Given the description of an element on the screen output the (x, y) to click on. 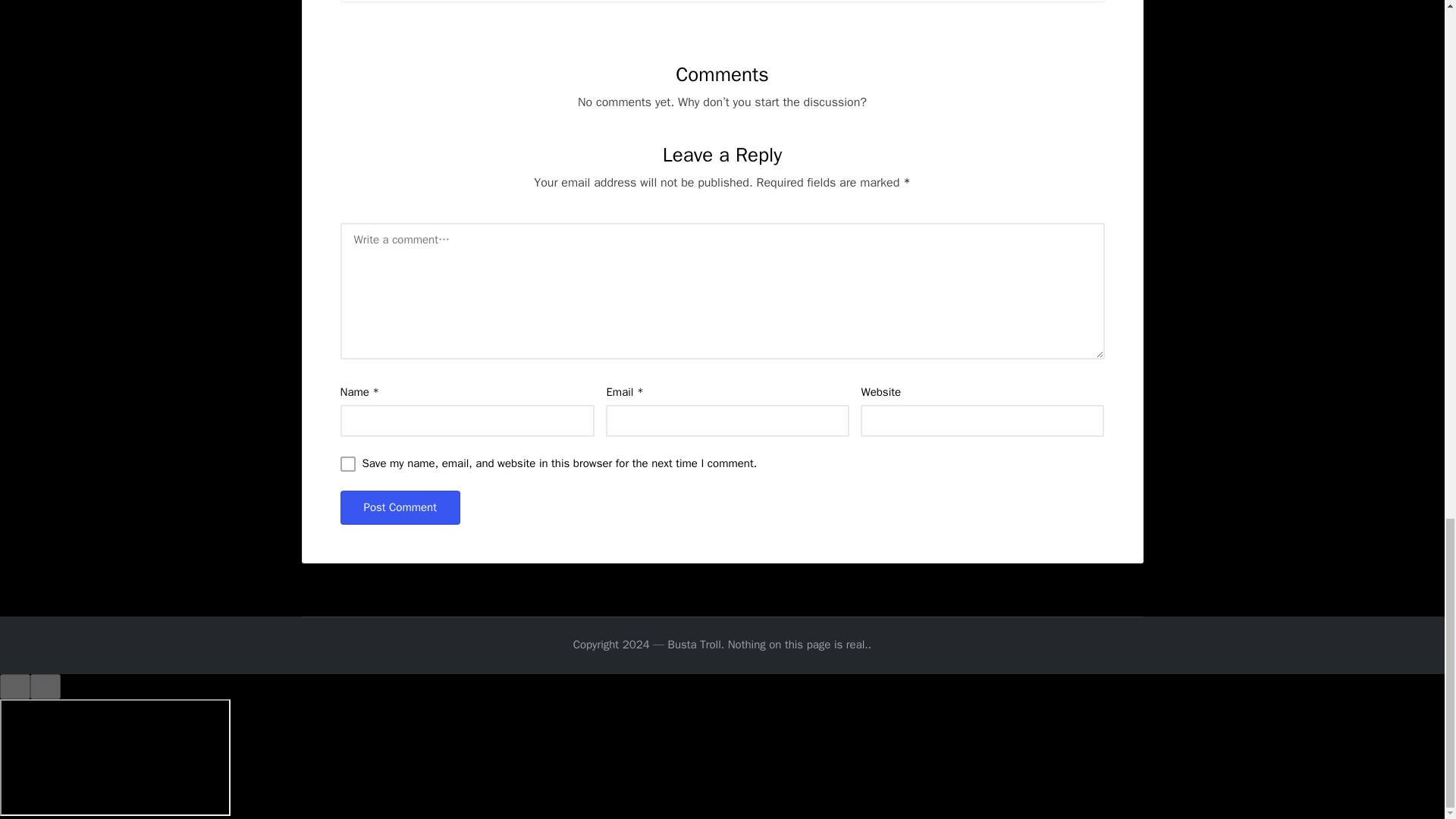
yes (347, 463)
Post Comment (399, 507)
Post Comment (399, 507)
